Given the description of an element on the screen output the (x, y) to click on. 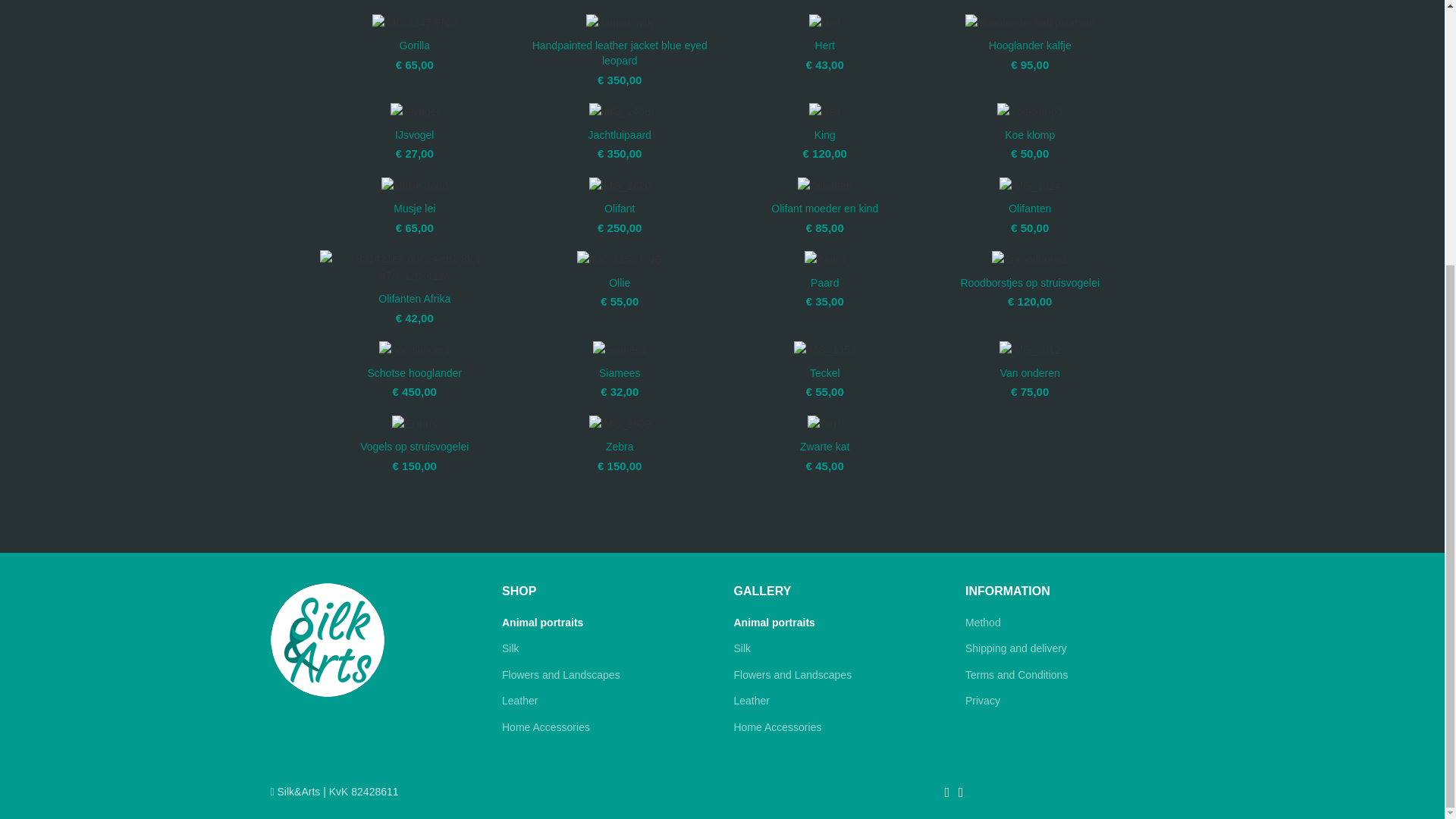
Koeklomp3 (1029, 111)
Hert (825, 22)
Hert (825, 111)
IMG-3247 PNG (414, 22)
Jaguar jack (619, 22)
Ijsvogel (414, 111)
Hooglander kalf plaatsen (1029, 22)
